Given the description of an element on the screen output the (x, y) to click on. 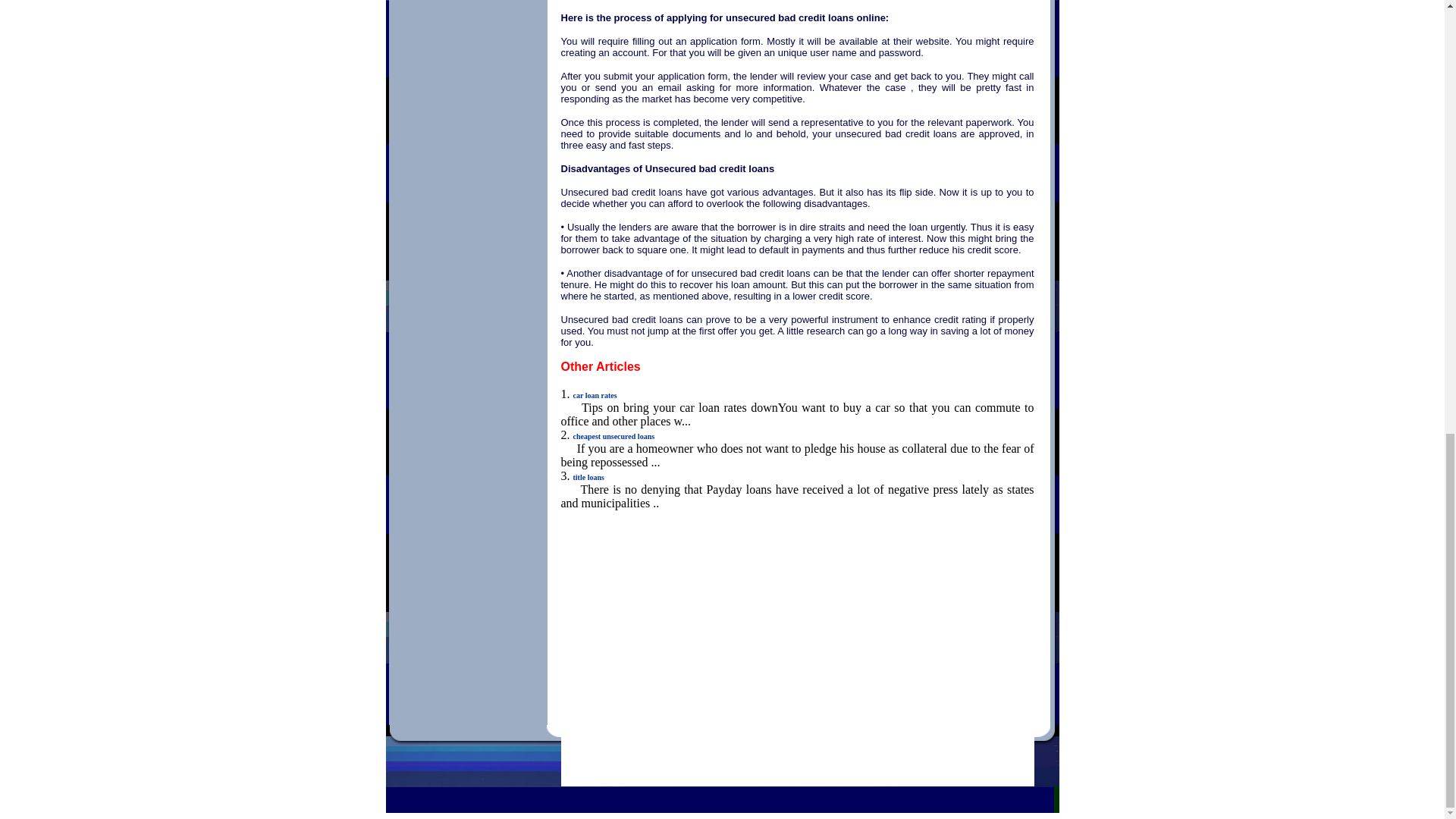
title loans (588, 477)
car loan rates (595, 395)
cheapest unsecured loans (614, 436)
